Given the description of an element on the screen output the (x, y) to click on. 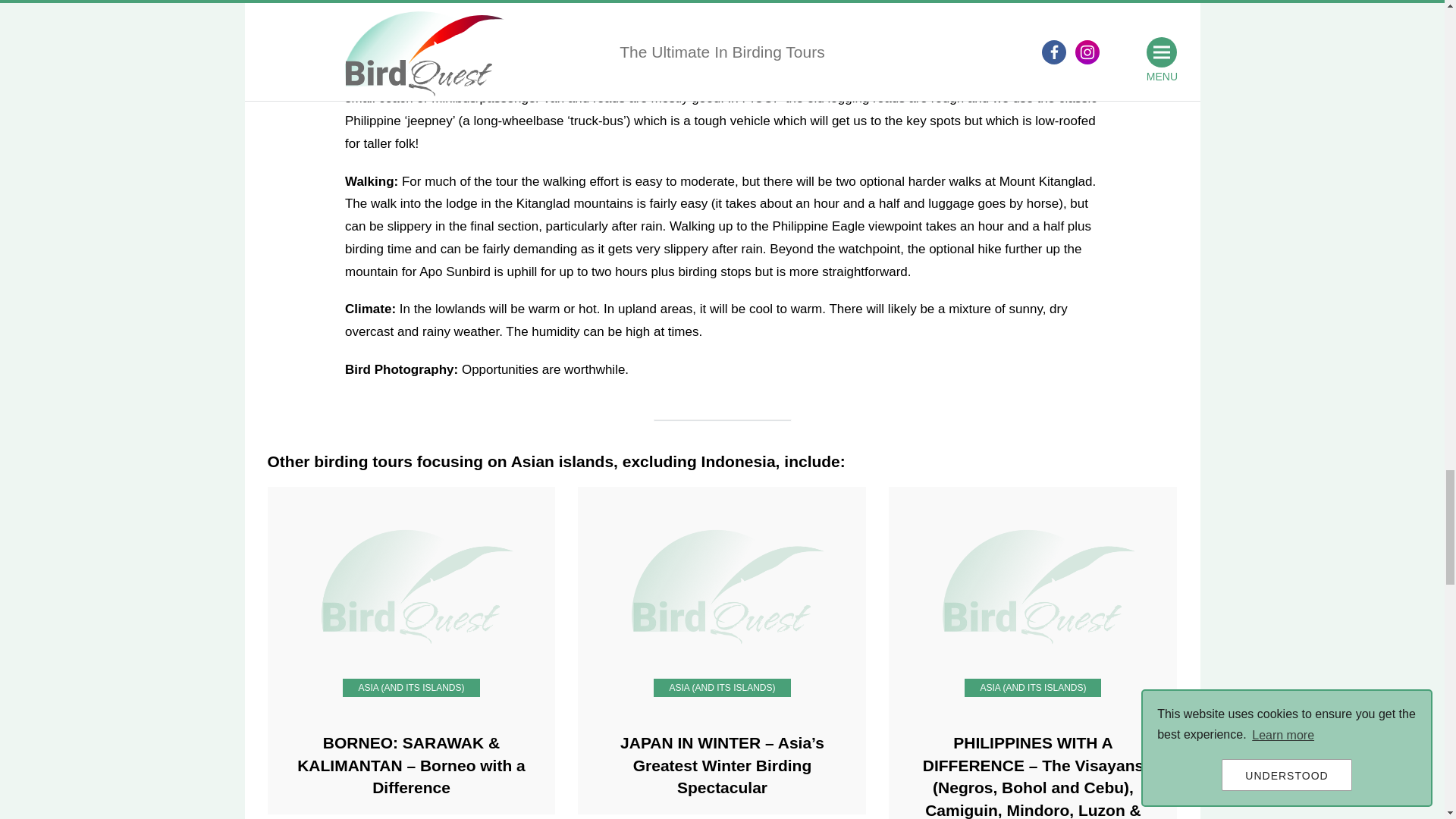
Title Text (410, 586)
Title Text (1032, 586)
Title Text (722, 586)
